Given the description of an element on the screen output the (x, y) to click on. 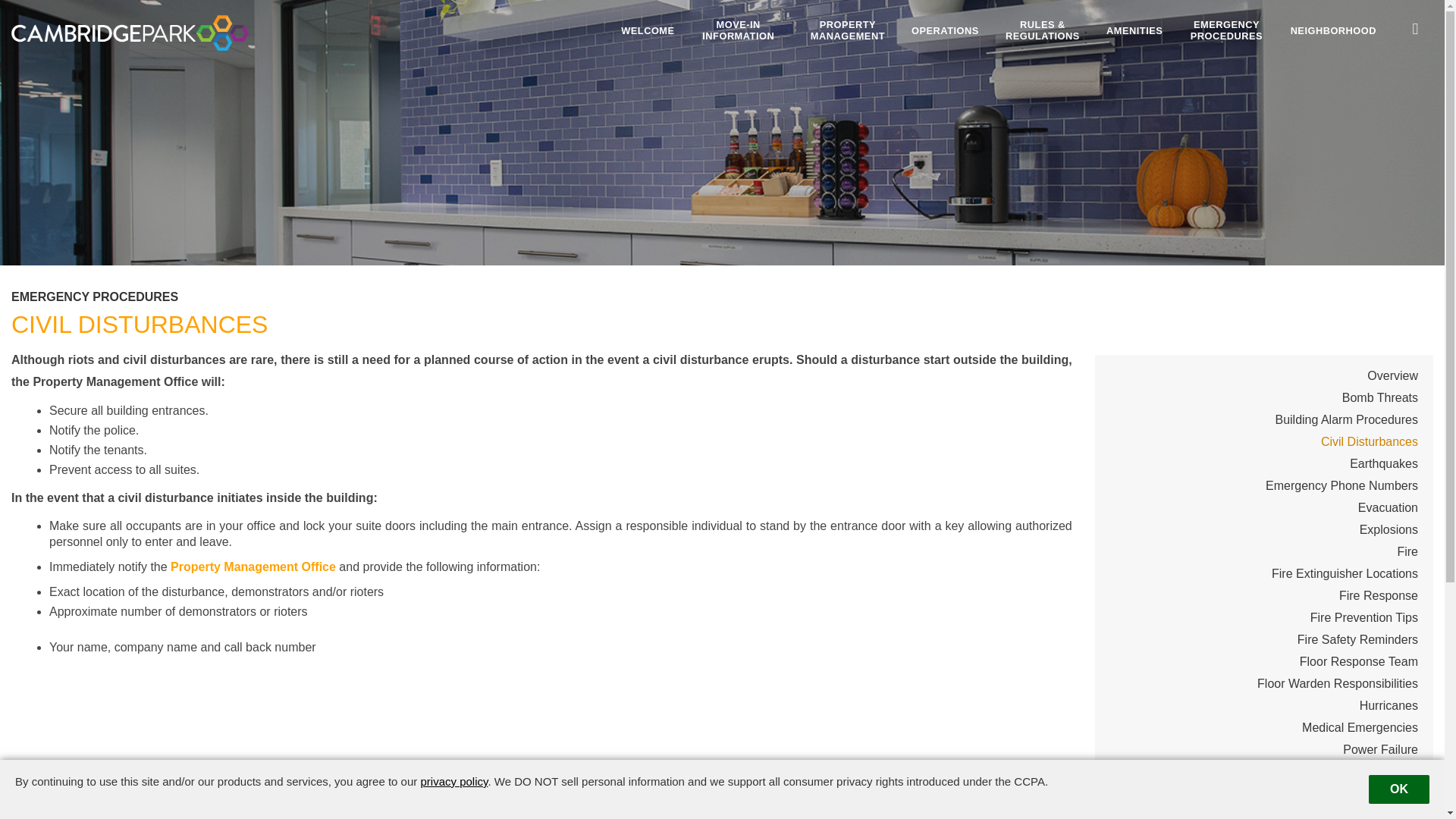
WELCOME (647, 30)
EMERGENCY PROCEDURES (1225, 29)
AMENITIES (1133, 30)
MOVE-IN INFORMATION (738, 29)
OPERATIONS (944, 30)
PROPERTY MANAGEMENT (847, 29)
